Given the description of an element on the screen output the (x, y) to click on. 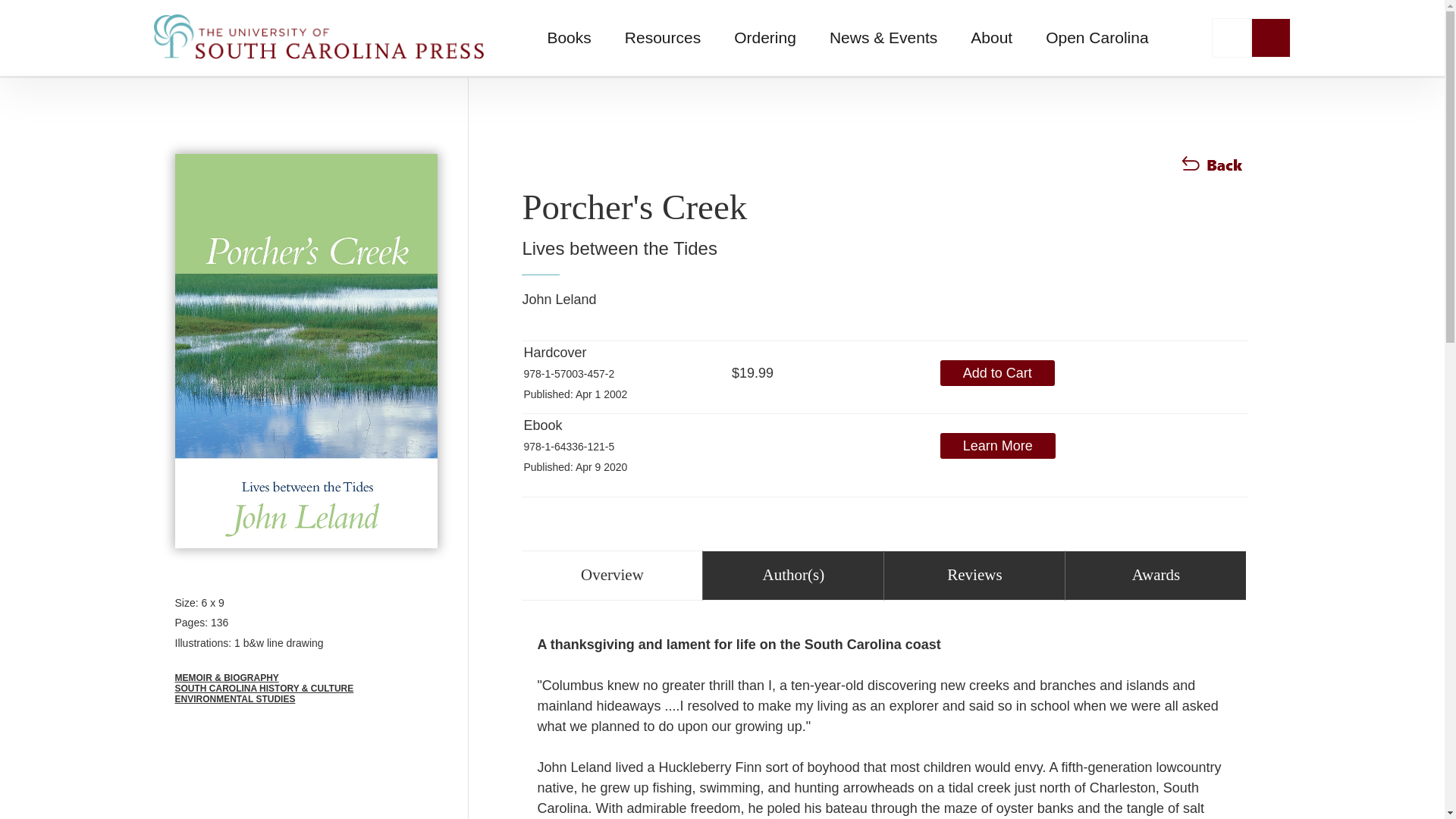
Resources (662, 38)
Open Carolina (1096, 38)
Books (568, 38)
Return to the previous page (1213, 171)
About (991, 38)
Ordering (764, 38)
